Given the description of an element on the screen output the (x, y) to click on. 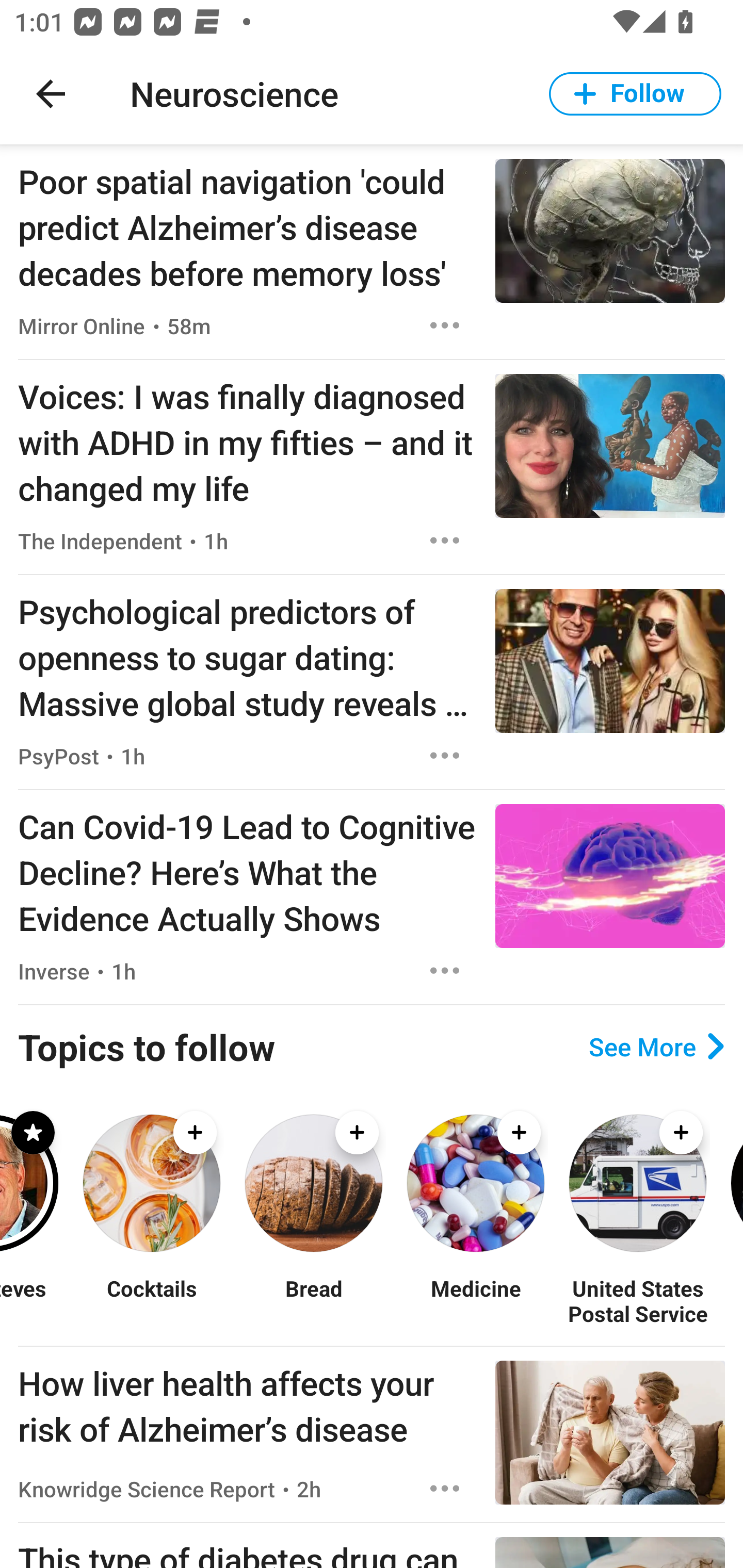
Navigate up (50, 93)
Follow (635, 94)
Options (444, 325)
Options (444, 540)
Options (444, 755)
Options (444, 970)
See More (656, 1046)
Cocktails (151, 1300)
Bread (313, 1300)
Medicine (475, 1300)
United States Postal Service (637, 1300)
Options (444, 1488)
